Given the description of an element on the screen output the (x, y) to click on. 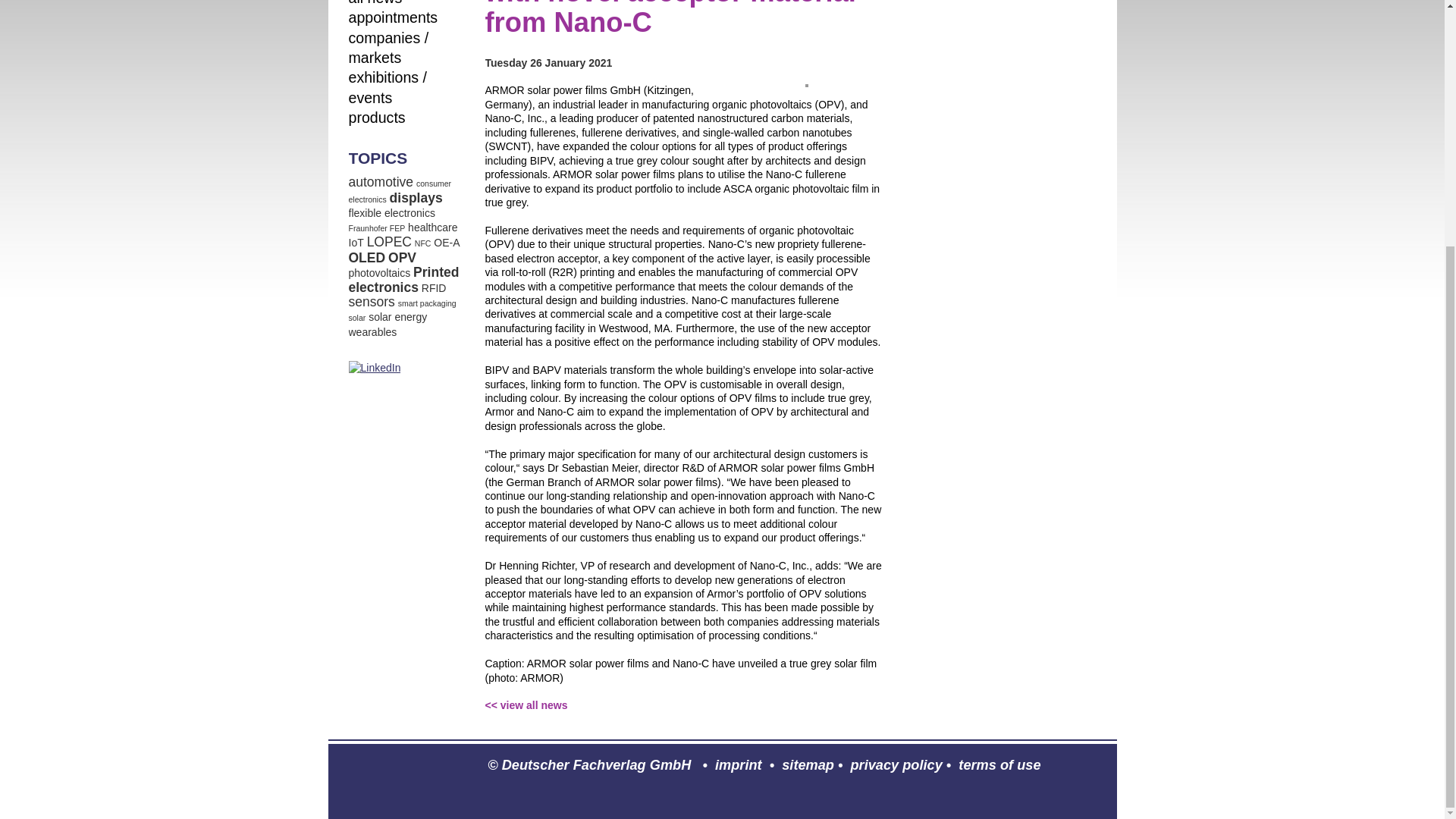
products (377, 117)
Products - News (377, 117)
News (376, 2)
NFC (422, 243)
OE-A (446, 242)
flexible electronics (392, 213)
Printed electronics (404, 279)
photovoltaics (379, 272)
Go back (525, 705)
OPV (402, 257)
all news (376, 2)
RFID (434, 287)
consumer electronics (400, 191)
OLED (367, 257)
Appointments - News (393, 17)
